Given the description of an element on the screen output the (x, y) to click on. 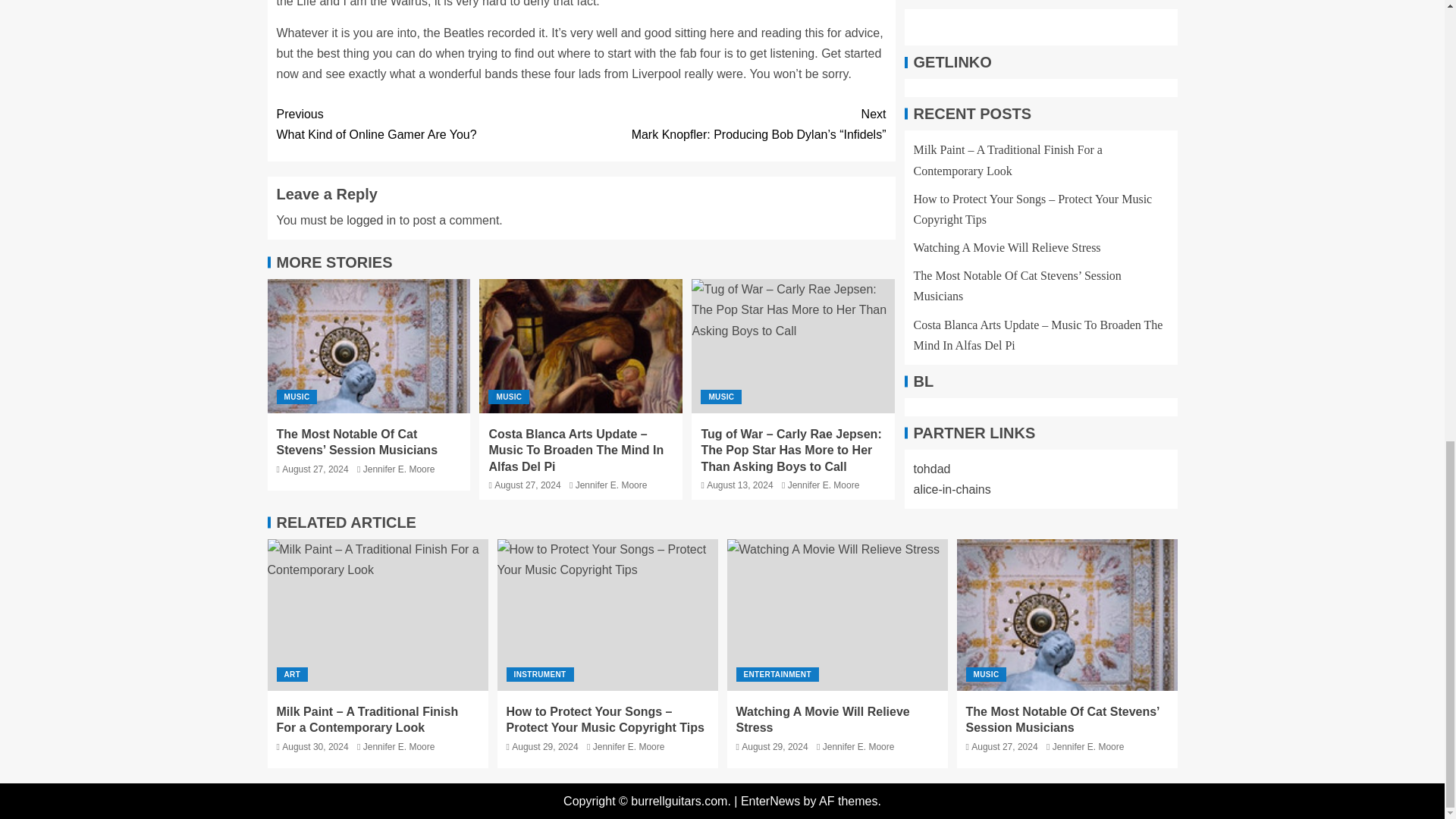
MUSIC (296, 396)
logged in (371, 219)
MUSIC (428, 124)
Jennifer E. Moore (720, 396)
Watching A Movie Will Relieve Stress (611, 484)
Jennifer E. Moore (836, 614)
MUSIC (398, 469)
Jennifer E. Moore (508, 396)
